Given the description of an element on the screen output the (x, y) to click on. 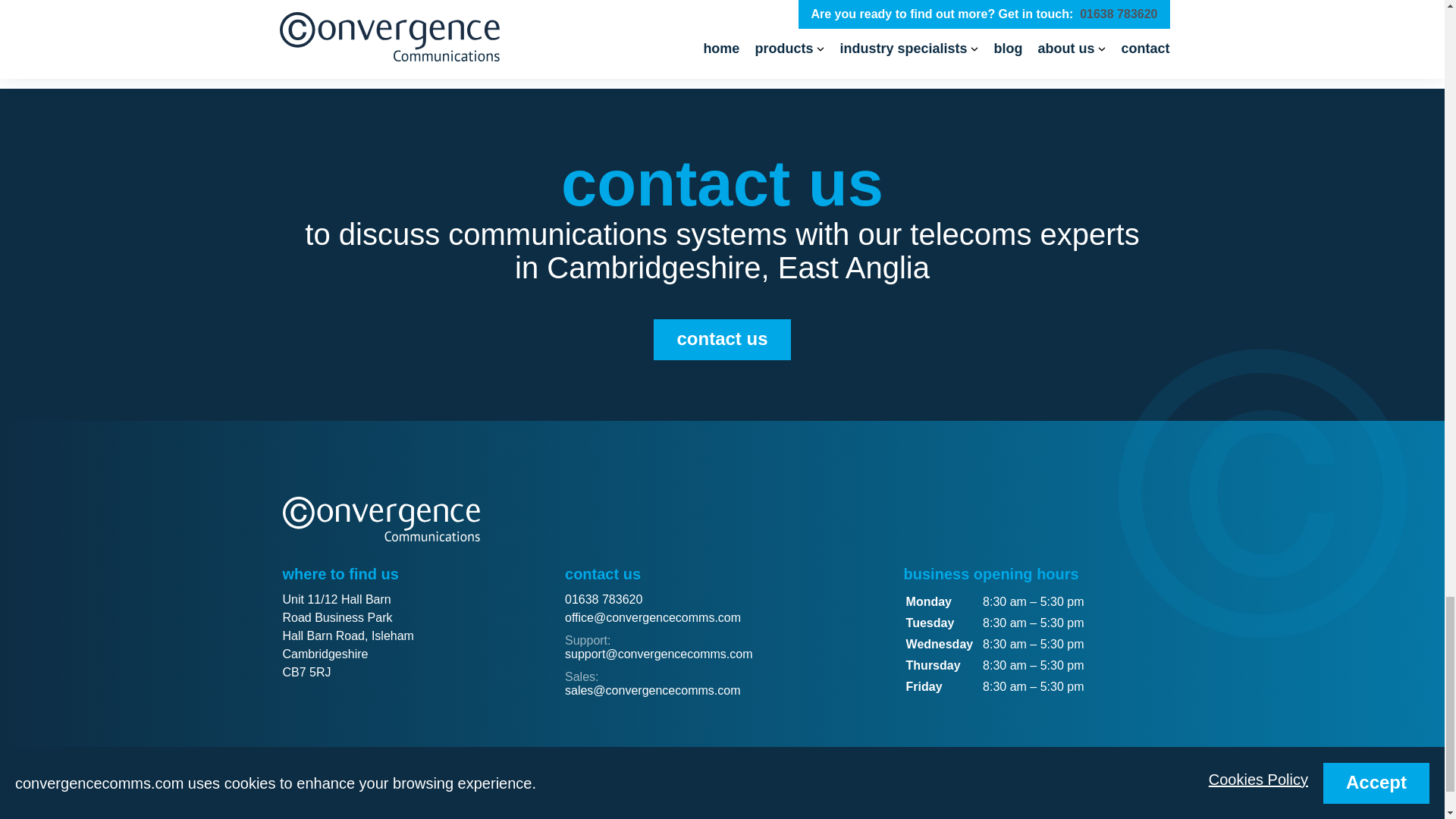
TESTIMONIALS (379, 791)
LEGAL (455, 791)
contact us (721, 339)
BLOG (306, 791)
01638 783620 (603, 599)
